Given the description of an element on the screen output the (x, y) to click on. 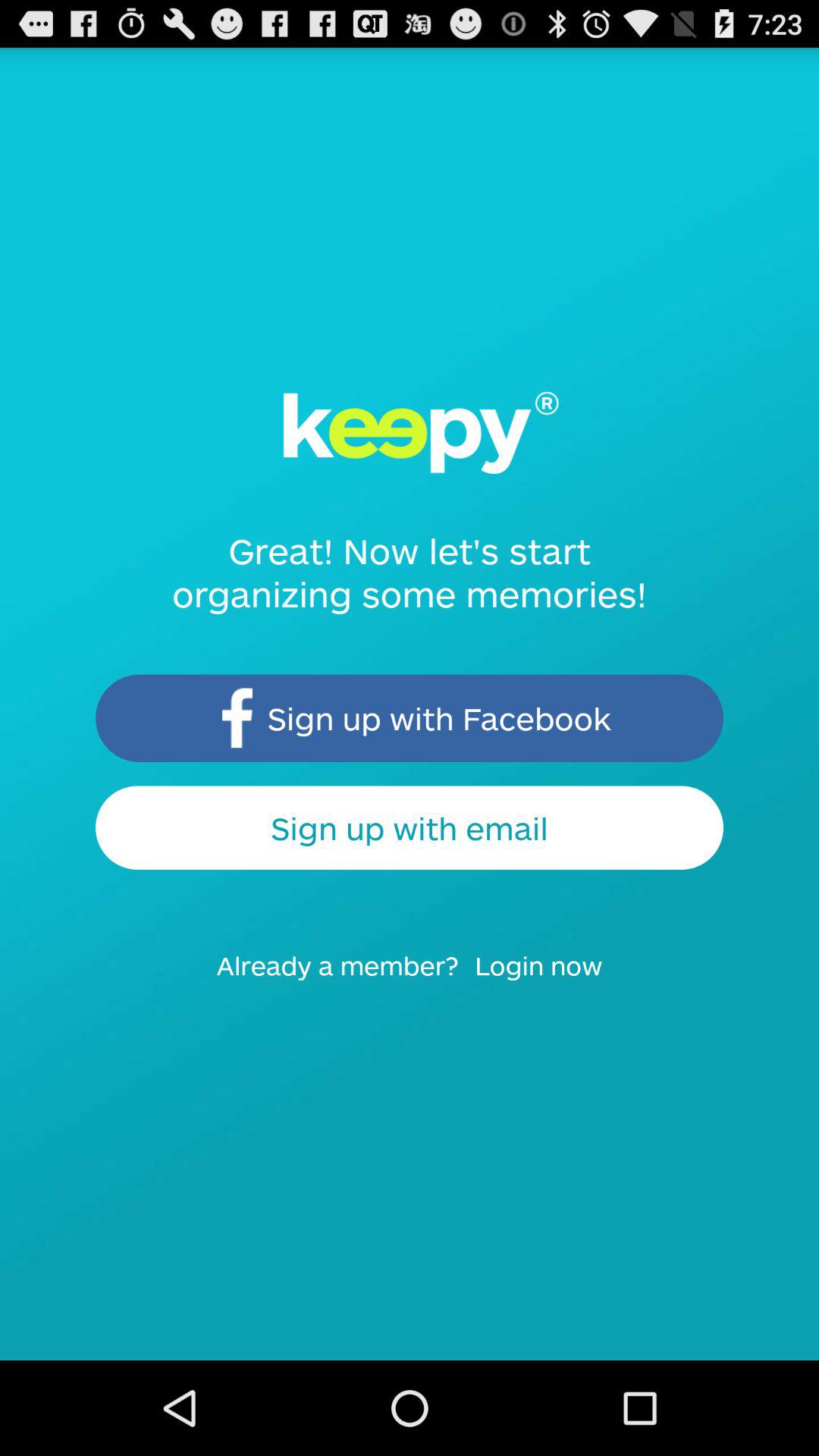
turn off the icon next to already a member? (548, 980)
